Given the description of an element on the screen output the (x, y) to click on. 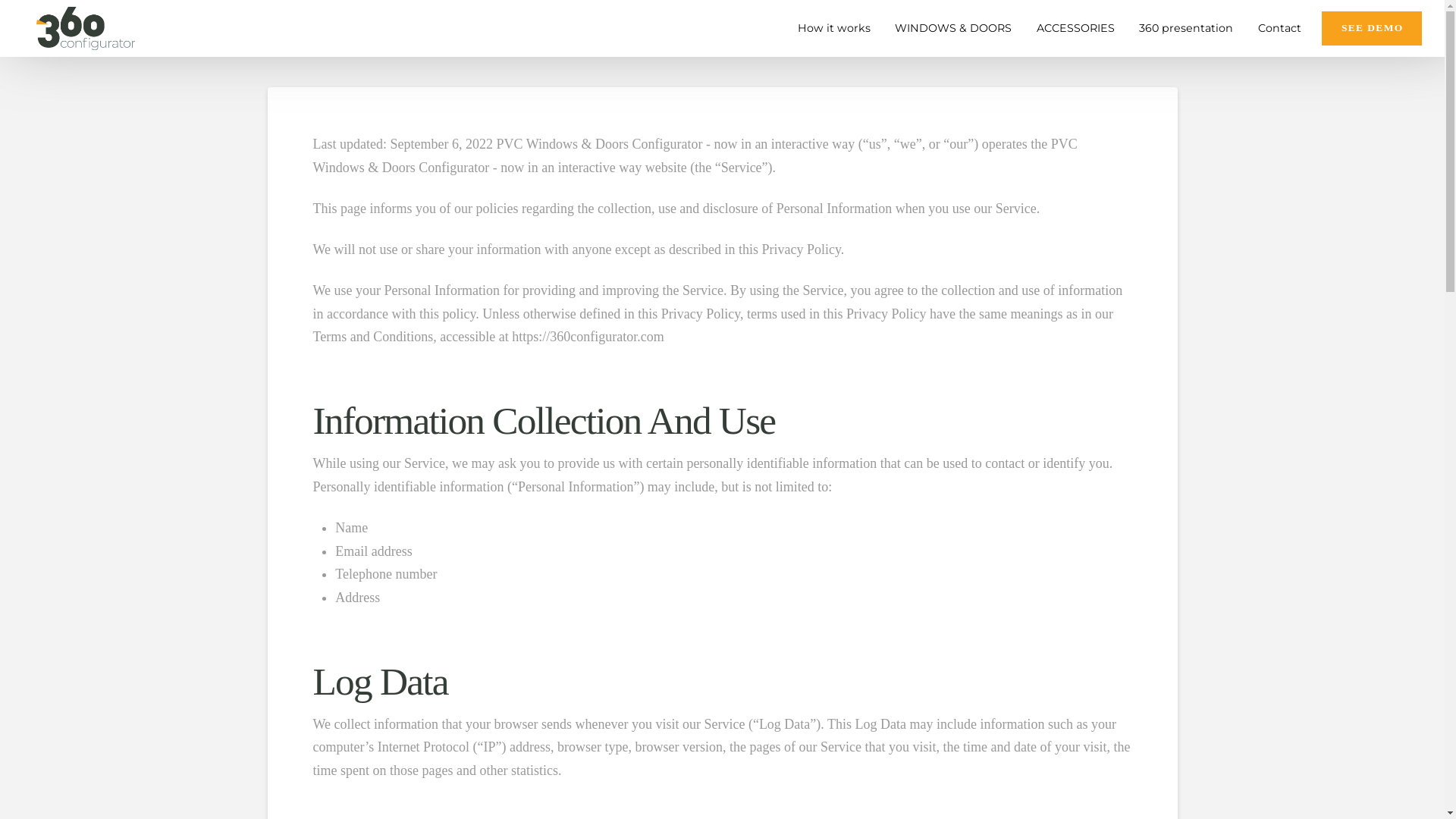
ACCESSORIES Element type: text (1072, 28)
Contact Element type: text (1276, 28)
How it works Element type: text (831, 28)
SEE DEMO Element type: text (1371, 28)
360 presentation Element type: text (1182, 28)
WINDOWS & DOORS Element type: text (950, 28)
